Given the description of an element on the screen output the (x, y) to click on. 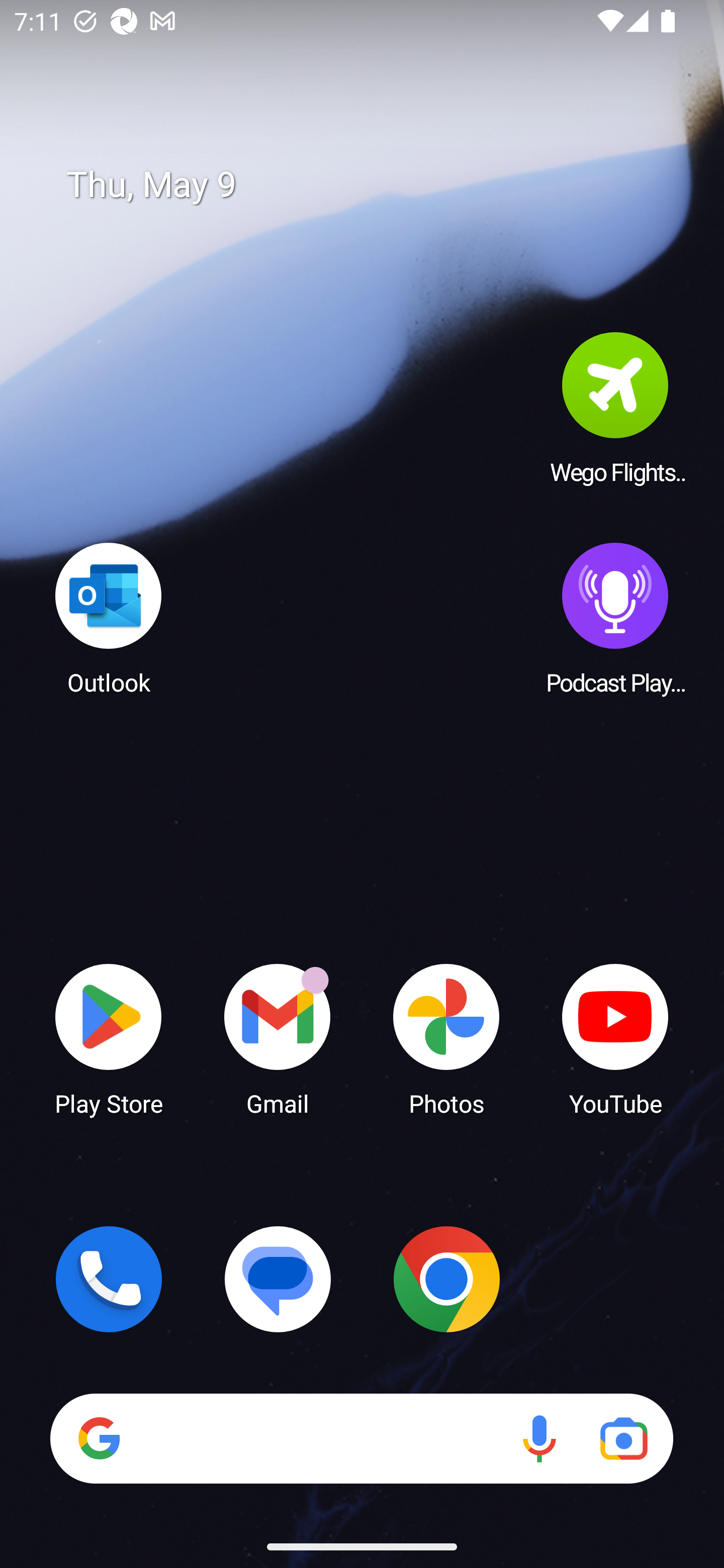
Thu, May 9 (375, 184)
Wego Flights & Hotels (615, 407)
Outlook (108, 617)
Podcast Player (615, 617)
Play Store (108, 1038)
Gmail Gmail has 18 notifications (277, 1038)
Photos (445, 1038)
YouTube (615, 1038)
Phone (108, 1279)
Messages (277, 1279)
Chrome (446, 1279)
Search Voice search Google Lens (361, 1438)
Voice search (539, 1438)
Google Lens (623, 1438)
